Given the description of an element on the screen output the (x, y) to click on. 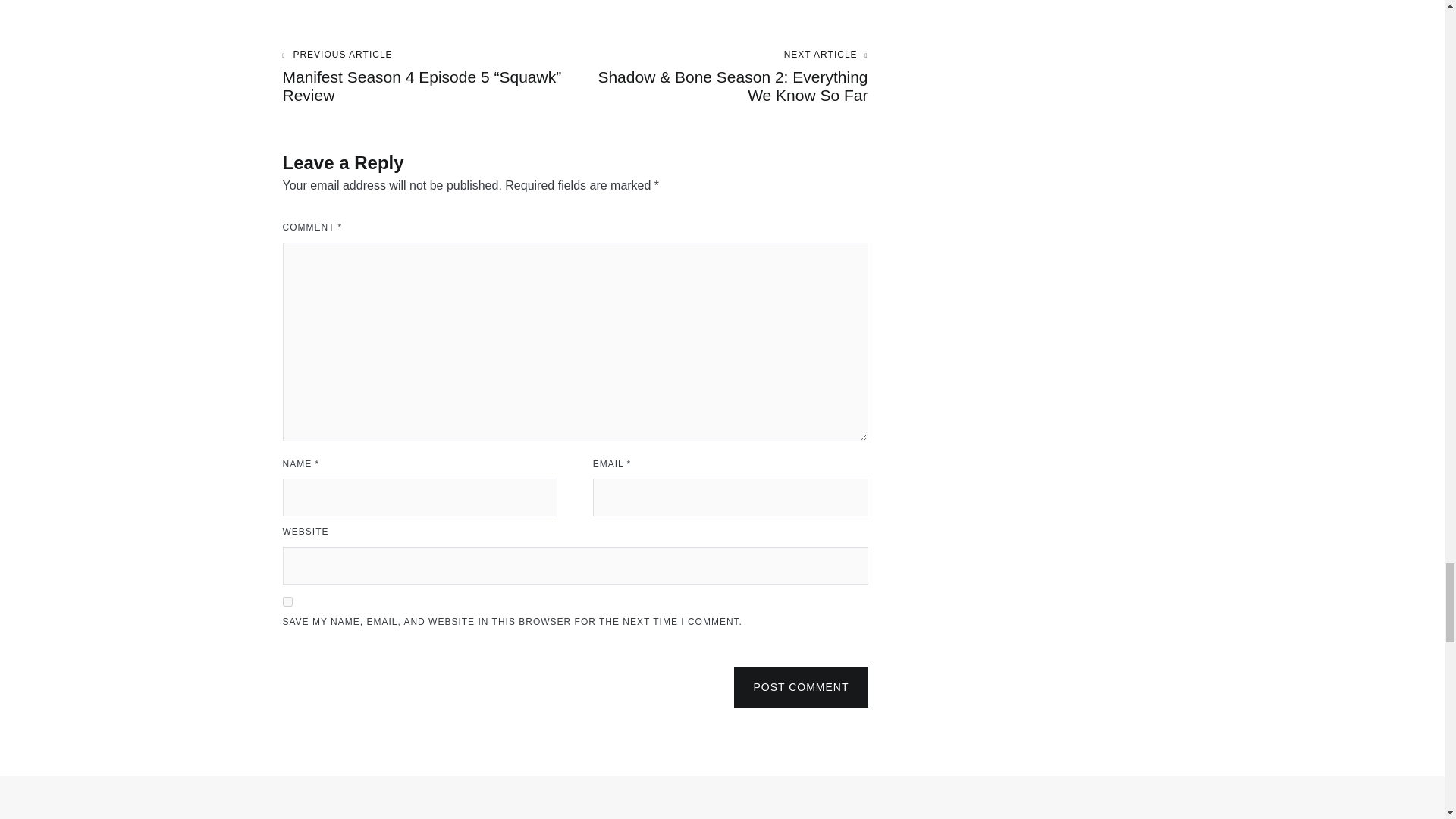
yes (287, 601)
